Given the description of an element on the screen output the (x, y) to click on. 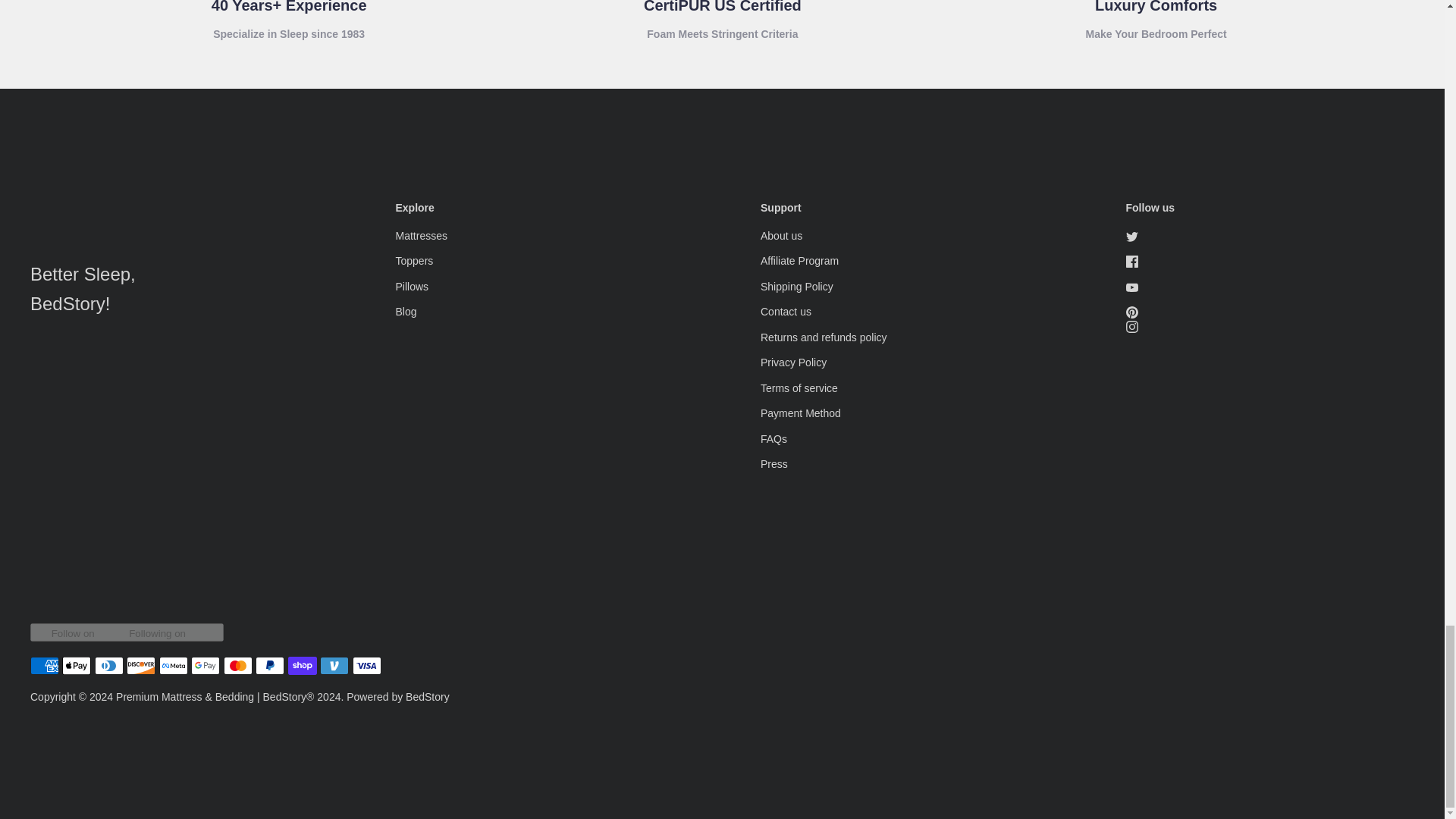
Apple Pay (76, 665)
Discover (140, 665)
Meta Pay (172, 665)
Diners Club (108, 665)
American Express (44, 665)
